Given the description of an element on the screen output the (x, y) to click on. 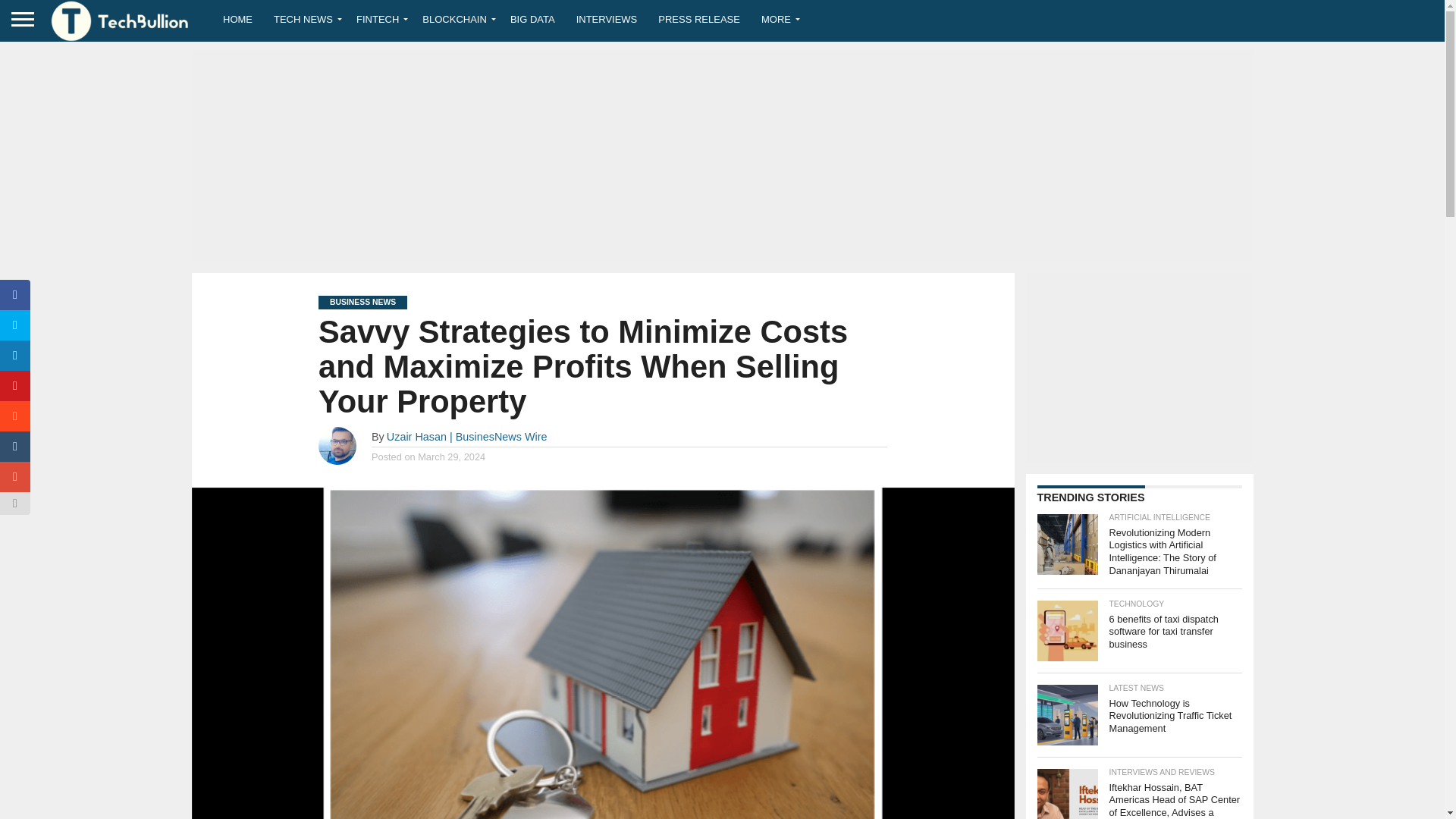
Advertisement (1138, 367)
